Given the description of an element on the screen output the (x, y) to click on. 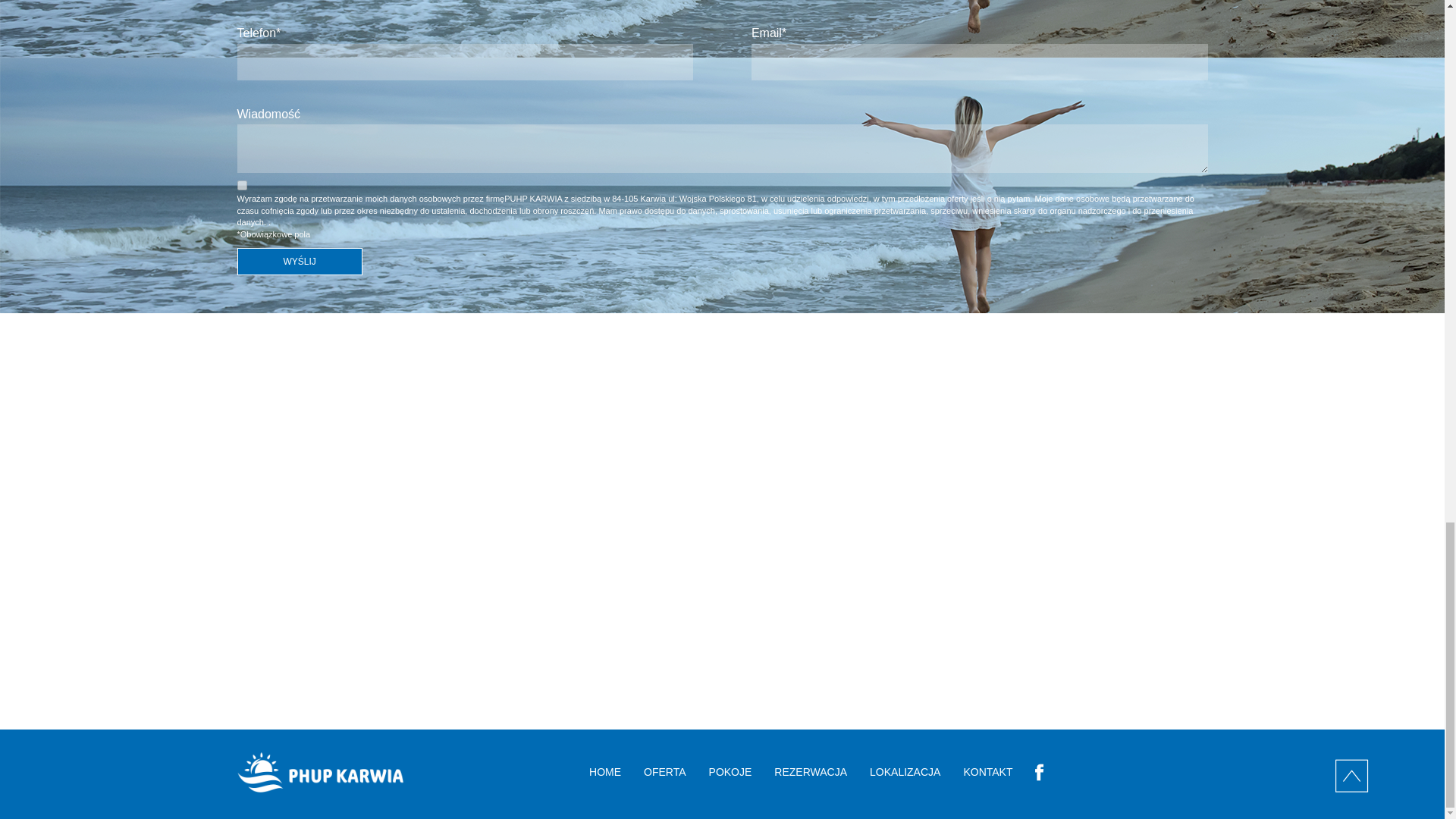
OFERTA (664, 771)
1 (240, 185)
POKOJE (730, 771)
KONTAKT (986, 771)
REZERWACJA (810, 771)
LOKALIZACJA (904, 771)
HOME (605, 771)
